Given the description of an element on the screen output the (x, y) to click on. 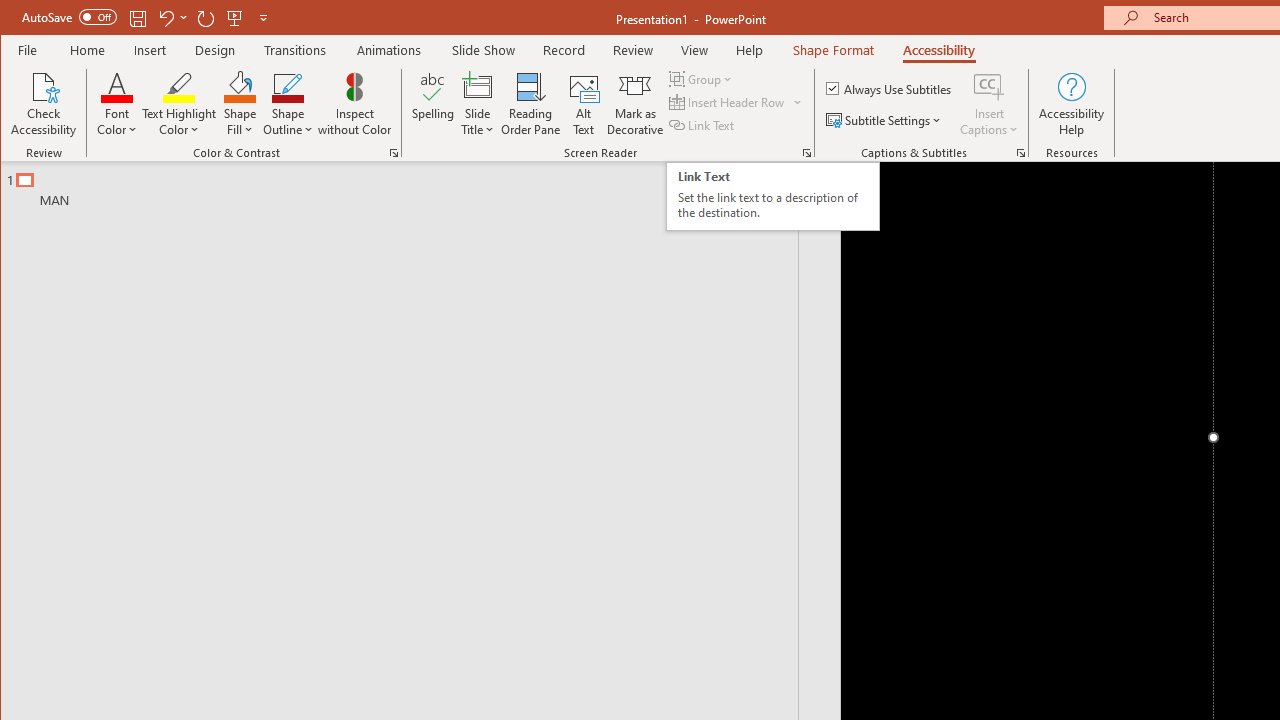
Outline (408, 185)
Insert Header Row (735, 101)
Insert Captions (989, 104)
